Given the description of an element on the screen output the (x, y) to click on. 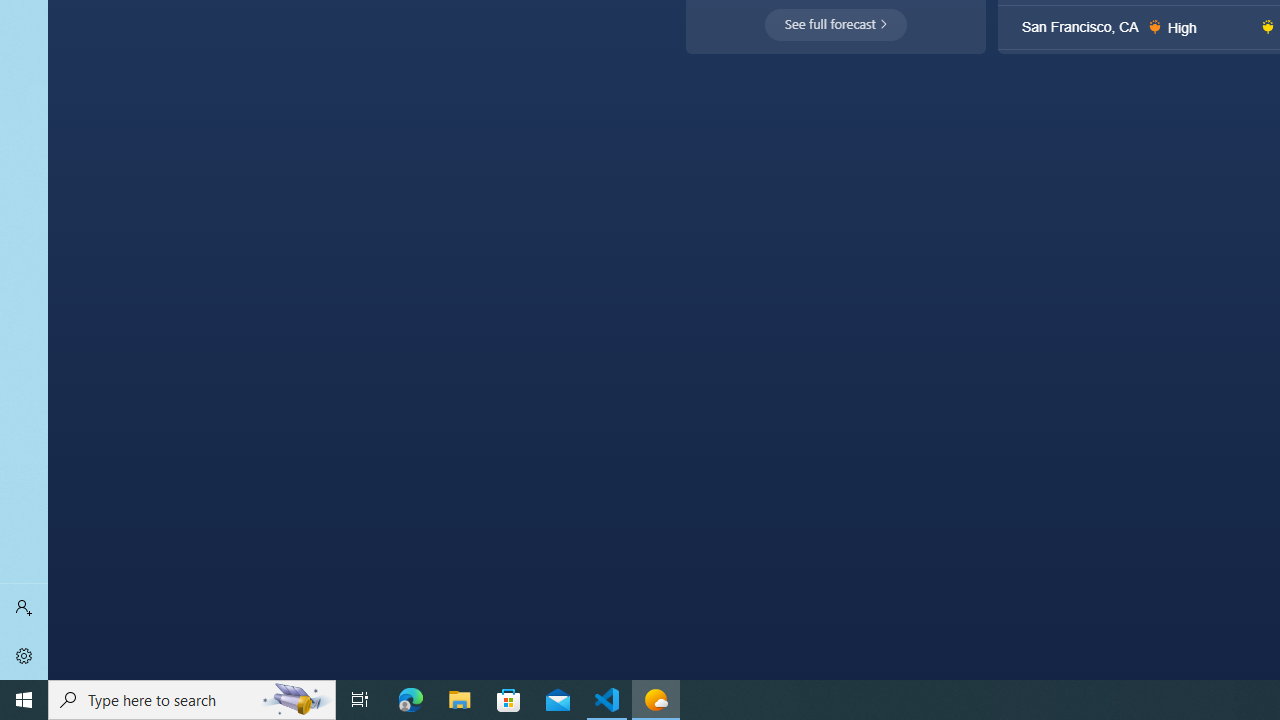
Sign in (24, 607)
Weather - 1 running window (656, 699)
Settings (24, 655)
